Given the description of an element on the screen output the (x, y) to click on. 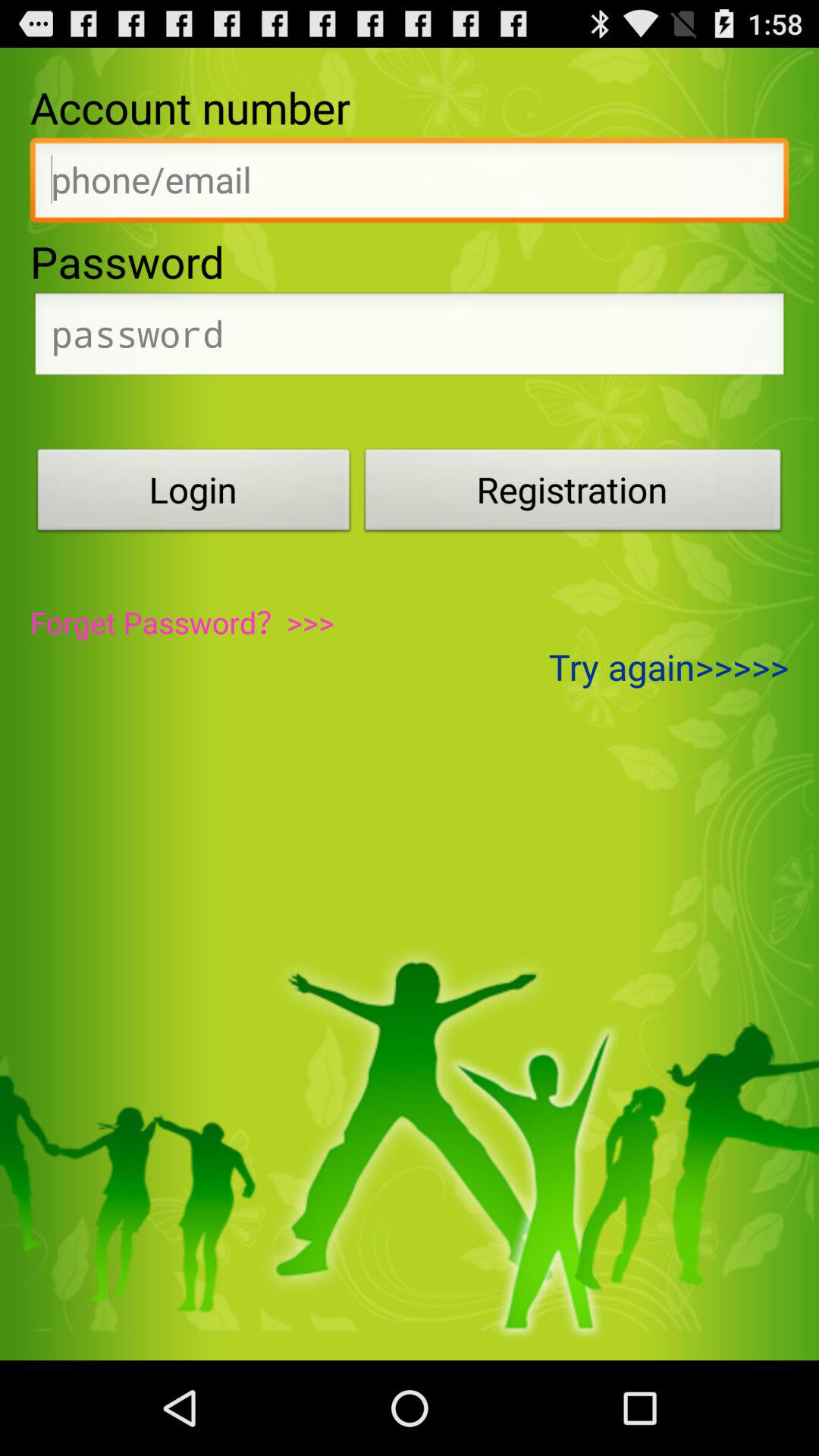
activate textbox (409, 184)
